Given the description of an element on the screen output the (x, y) to click on. 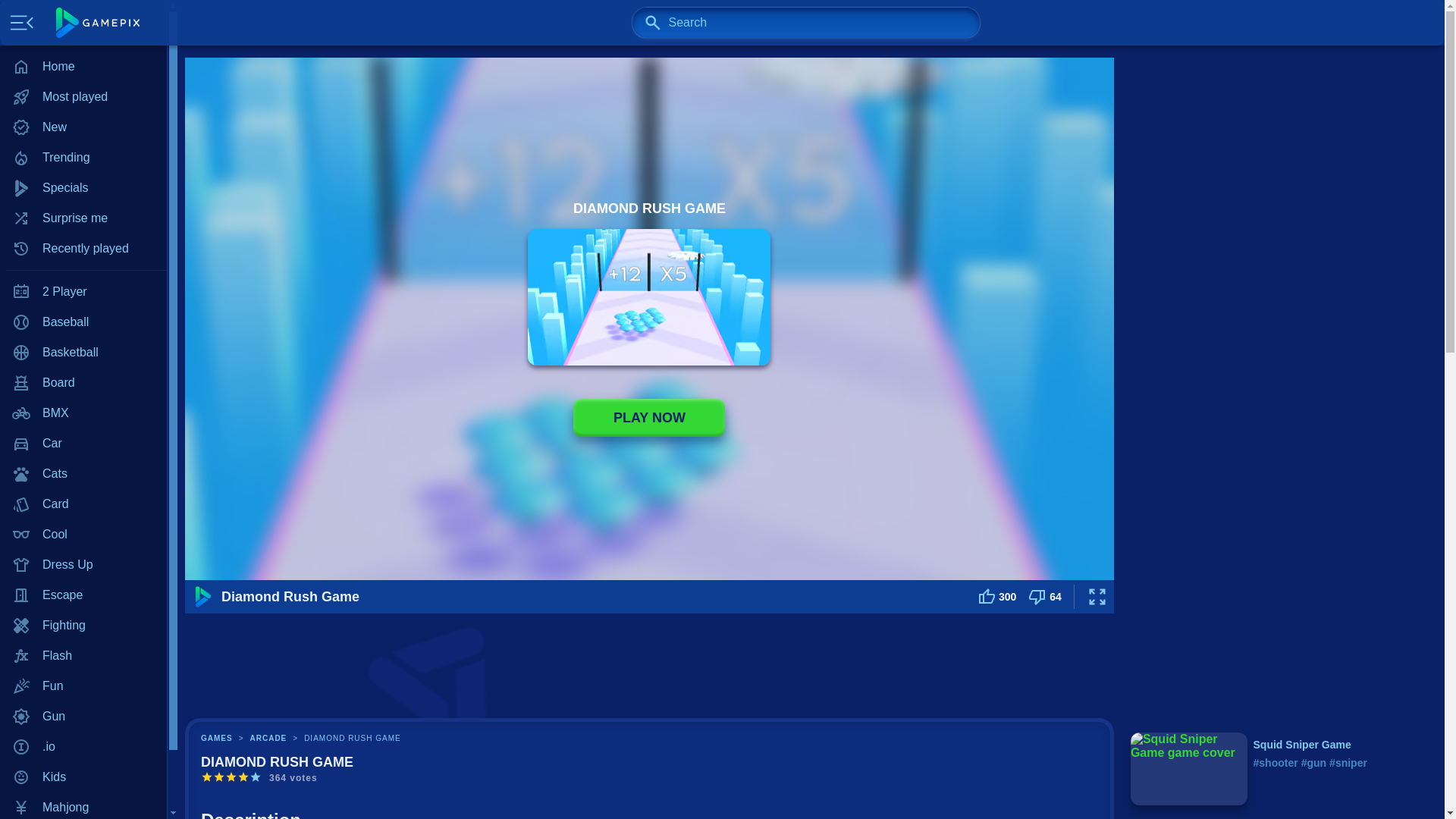
New (83, 127)
Cool (83, 534)
Trending (83, 157)
gamepix.com (97, 22)
Cool (83, 534)
Fighting (83, 625)
.io (83, 747)
Specials (83, 187)
Home (83, 66)
Dress Up (83, 564)
Mahjong (83, 805)
2 Player (83, 291)
Home (83, 66)
Basketball (83, 352)
Card (83, 503)
